Given the description of an element on the screen output the (x, y) to click on. 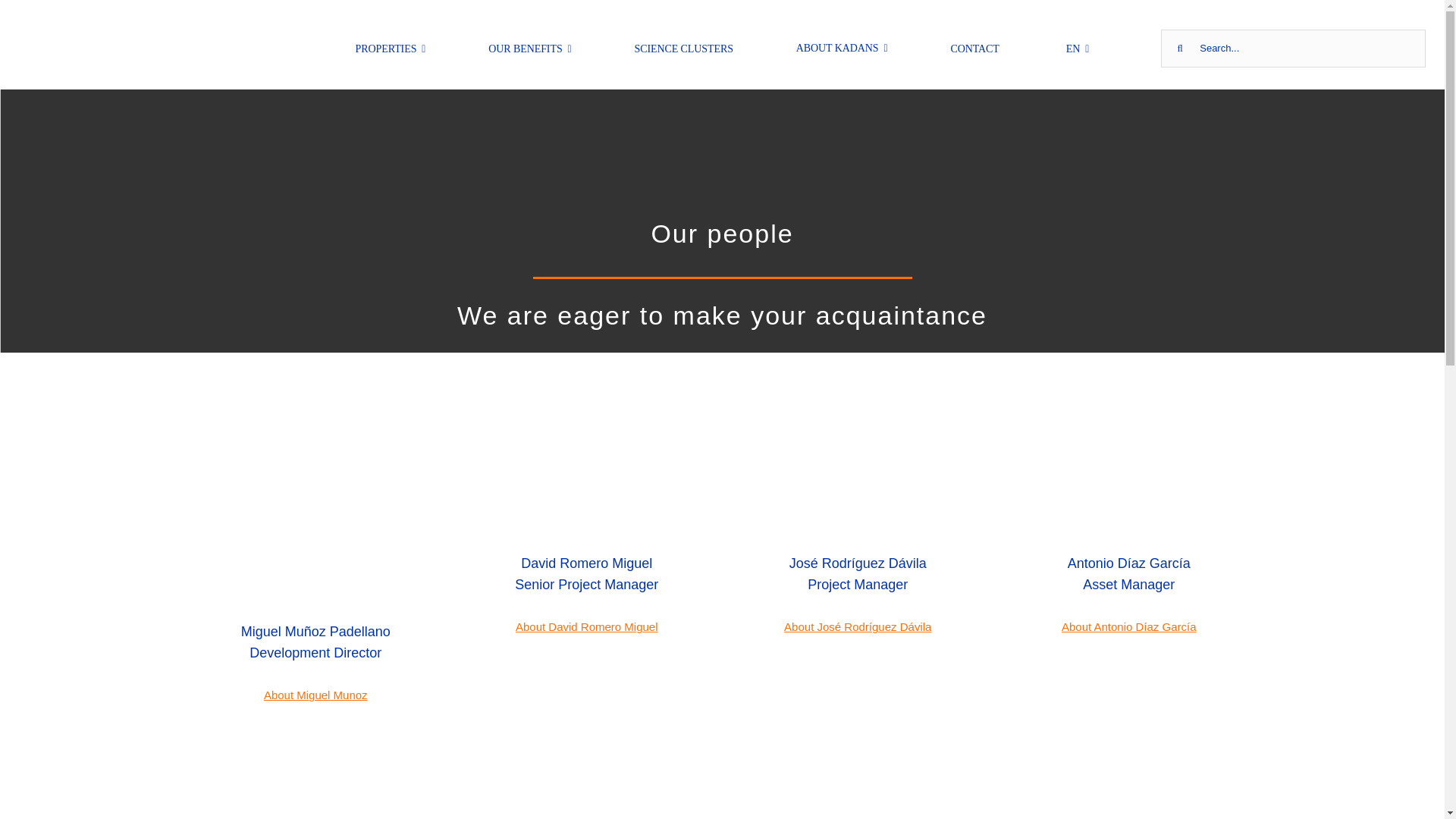
About Miguel Munoz (315, 694)
SCIENCE CLUSTERS (683, 48)
About David Romero Miguel (586, 626)
CONTACT (974, 48)
PROPERTIES (390, 48)
ABOUT KADANS (842, 48)
OUR BENEFITS (528, 48)
